Given the description of an element on the screen output the (x, y) to click on. 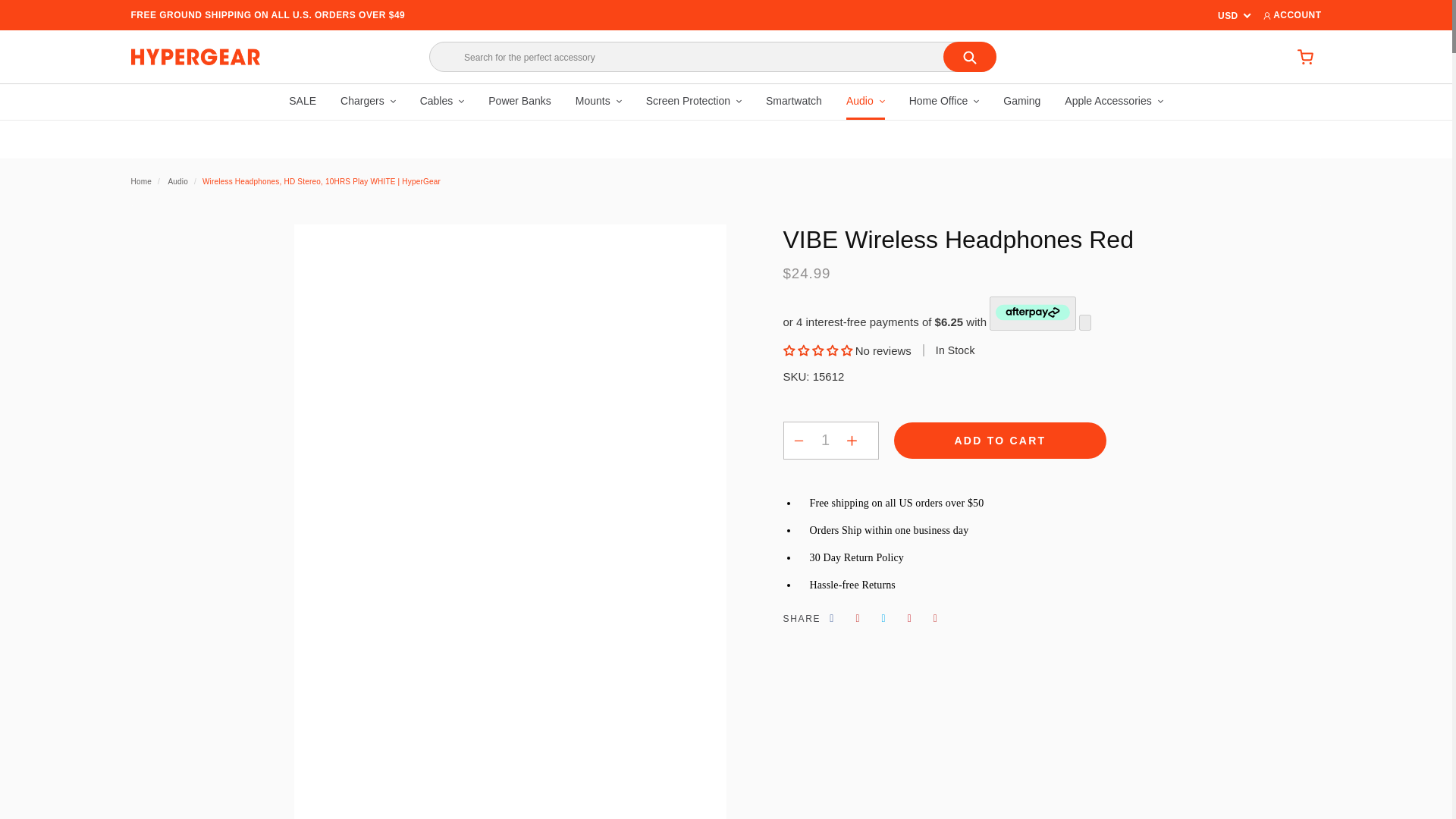
Cart (1304, 56)
1 (825, 440)
Submit (969, 56)
Back to the frontpage (141, 181)
